Given the description of an element on the screen output the (x, y) to click on. 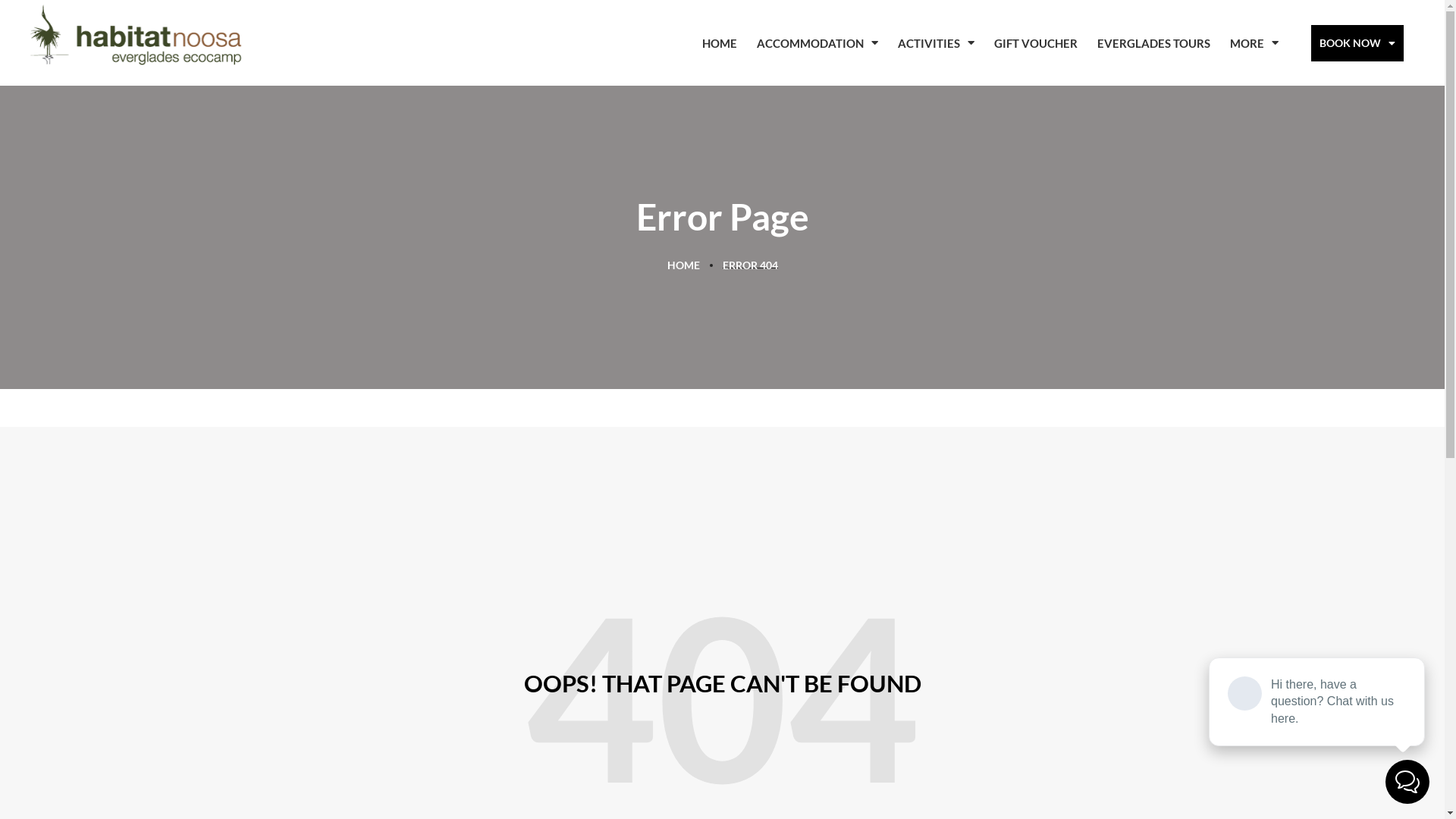
EVERGLADES TOURS Element type: text (1153, 42)
BOOK NOW Element type: text (1357, 42)
ACCOMMODATION Element type: text (817, 42)
ACTIVITIES Element type: text (935, 42)
GIFT VOUCHER Element type: text (1035, 42)
HOME Element type: text (683, 264)
MORE Element type: text (1253, 42)
HOME Element type: text (719, 42)
